Given the description of an element on the screen output the (x, y) to click on. 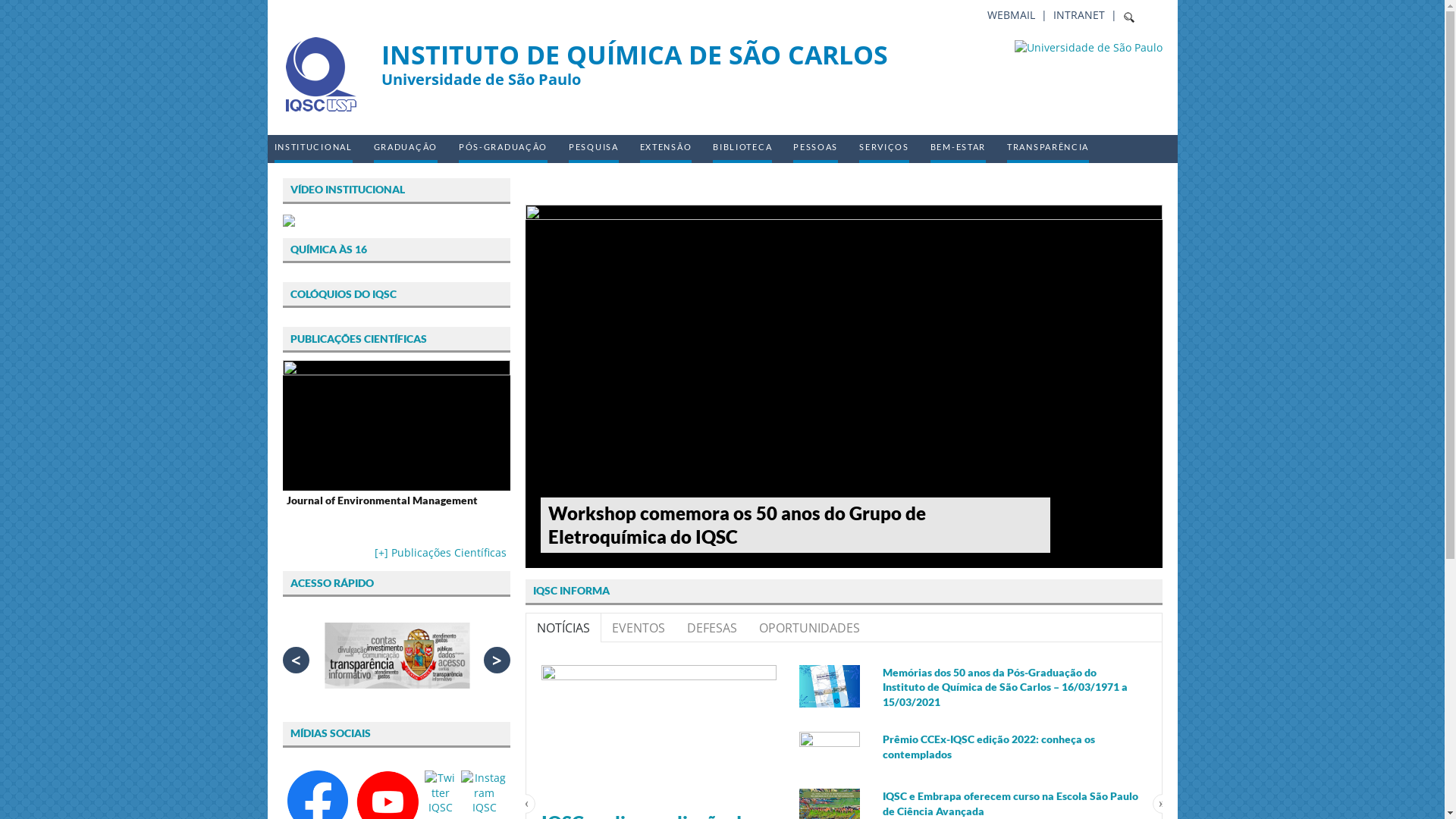
PESSOAS Element type: text (815, 148)
Journal of Environmental Management Element type: hover (395, 424)
BIBLIOTECA Element type: text (741, 148)
> Element type: text (496, 659)
< Element type: text (295, 659)
PESQUISA Element type: text (593, 148)
INSTITUCIONAL Element type: text (313, 148)
Busca Element type: text (29, 13)
Journal of Environmental Management Element type: text (395, 500)
Twitter IQSC Element type: hover (440, 792)
BEM-ESTAR Element type: text (957, 148)
Instagram IQSC Element type: hover (484, 792)
